Given the description of an element on the screen output the (x, y) to click on. 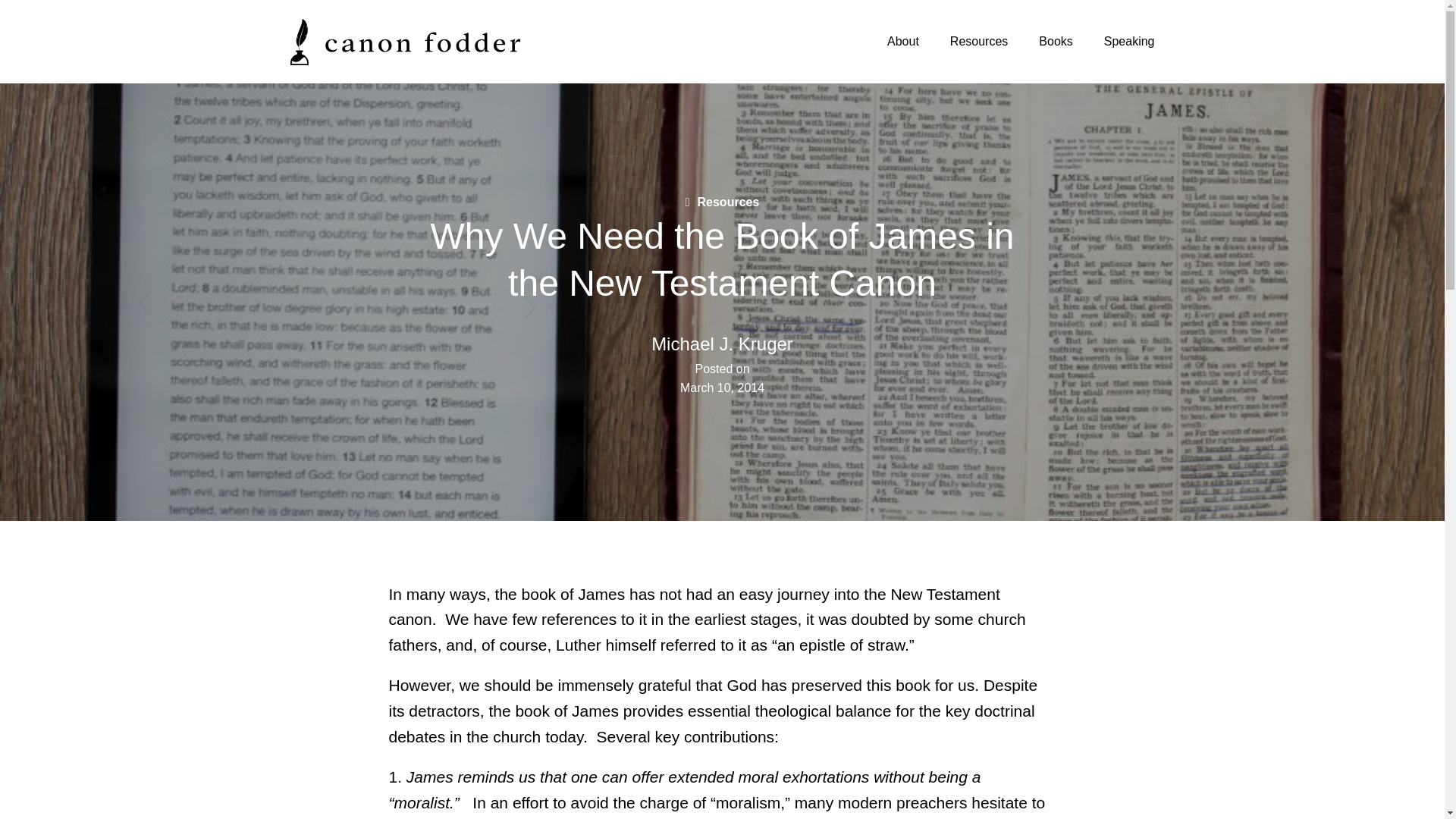
Speaking (1128, 41)
About (902, 41)
Books (1055, 41)
Resources (722, 201)
Resources (978, 41)
